Given the description of an element on the screen output the (x, y) to click on. 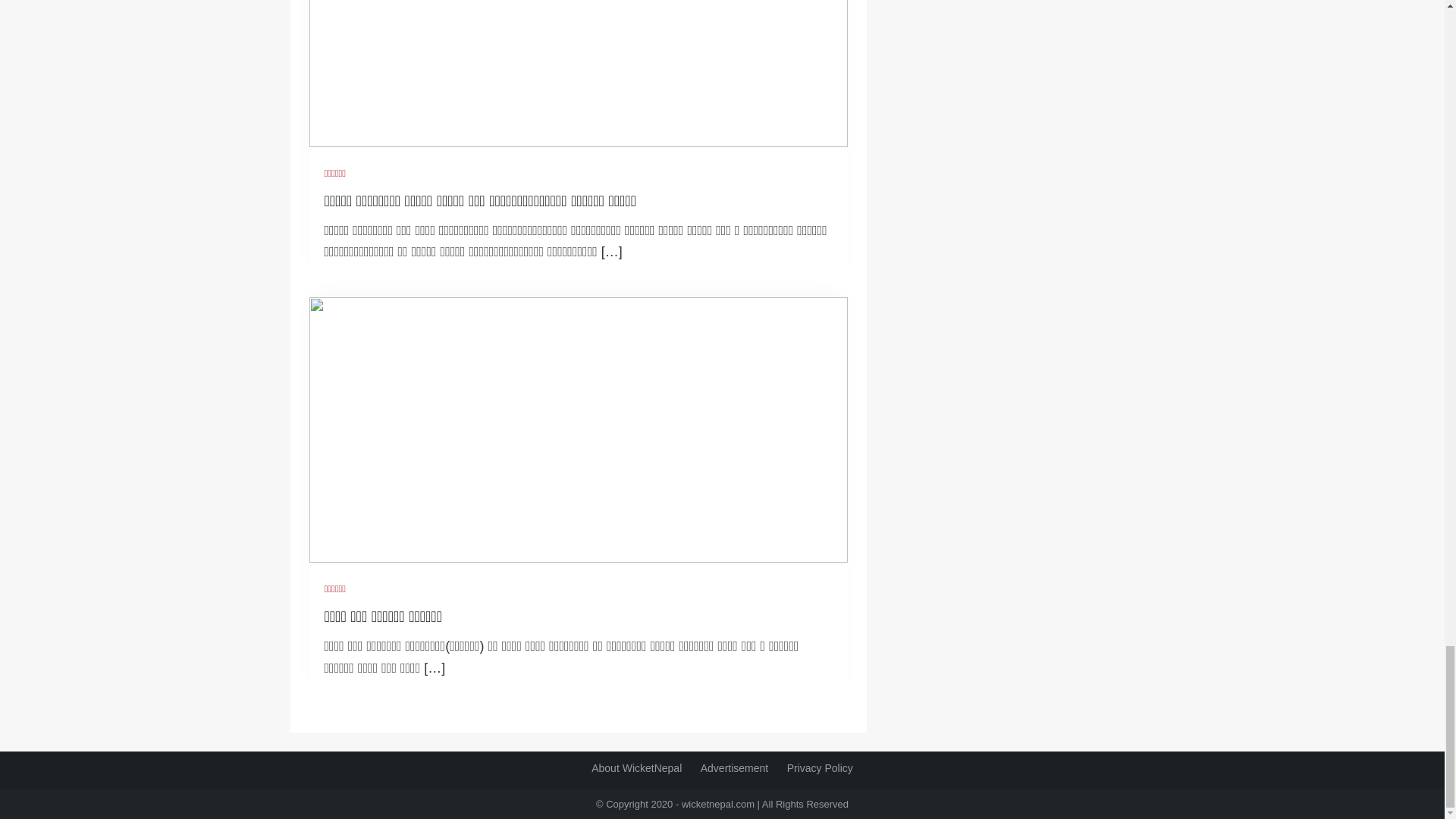
About WicketNepal (636, 767)
Advertisement (734, 767)
Privacy Policy (820, 767)
